Given the description of an element on the screen output the (x, y) to click on. 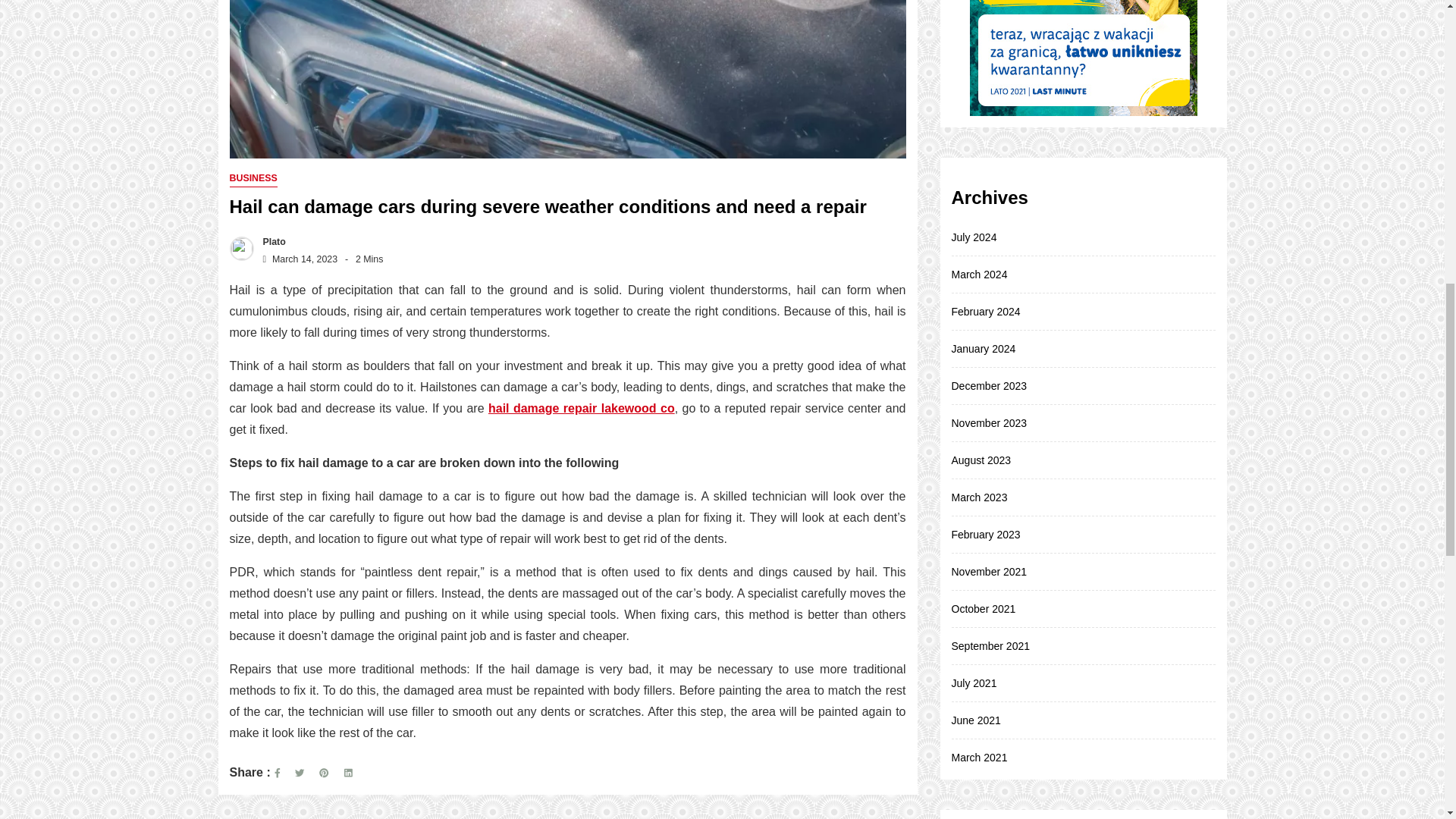
March 14, 2023 (296, 258)
BUSINESS (252, 178)
Plato (270, 241)
hail damage repair lakewood co (581, 408)
